Given the description of an element on the screen output the (x, y) to click on. 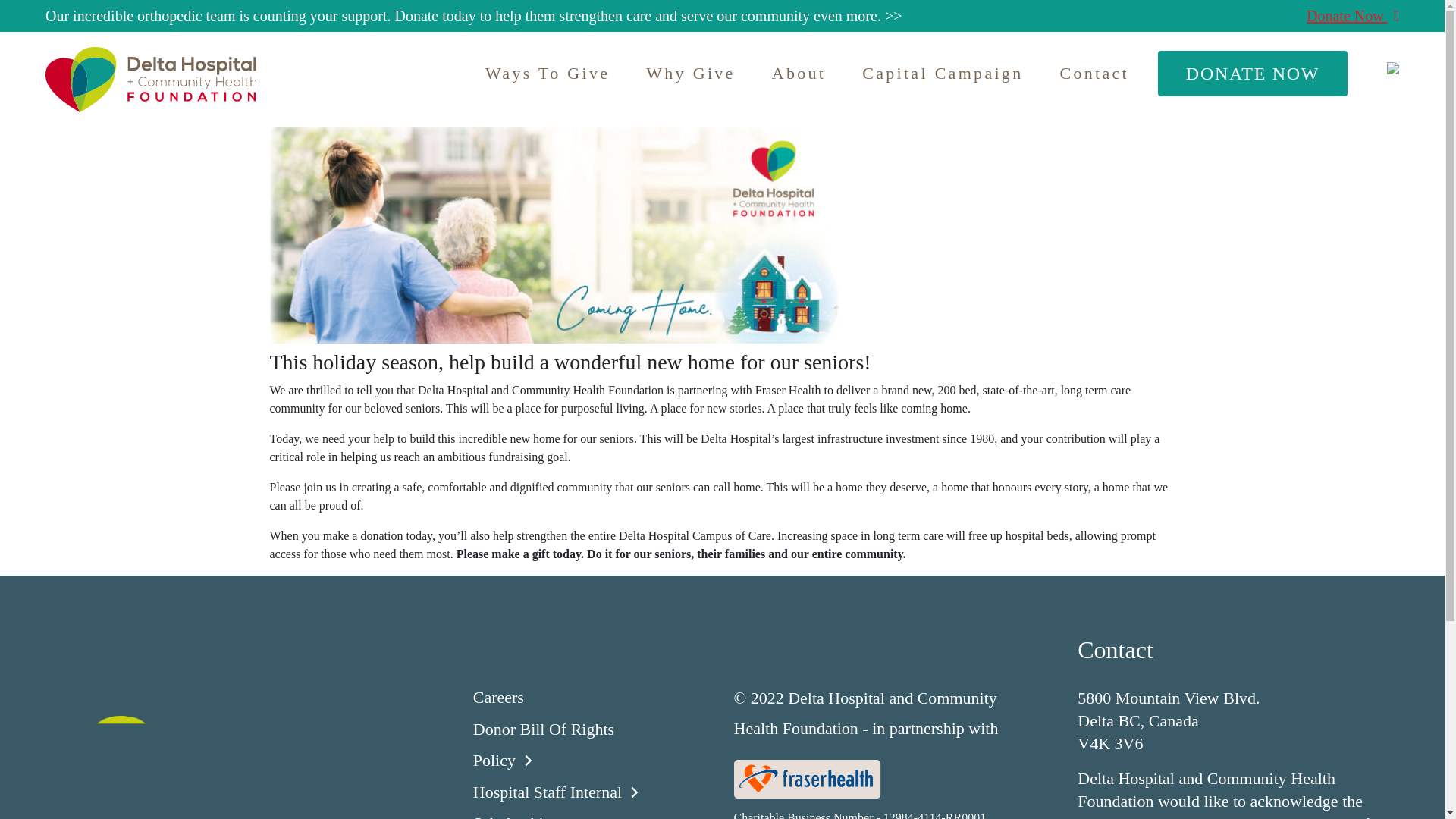
Capital Campaign (942, 73)
Ways To Give (547, 73)
Donate Now (1352, 15)
Careers (510, 697)
About (799, 73)
Contact (1094, 73)
Why Give (690, 73)
DONATE NOW (1252, 73)
